Given the description of an element on the screen output the (x, y) to click on. 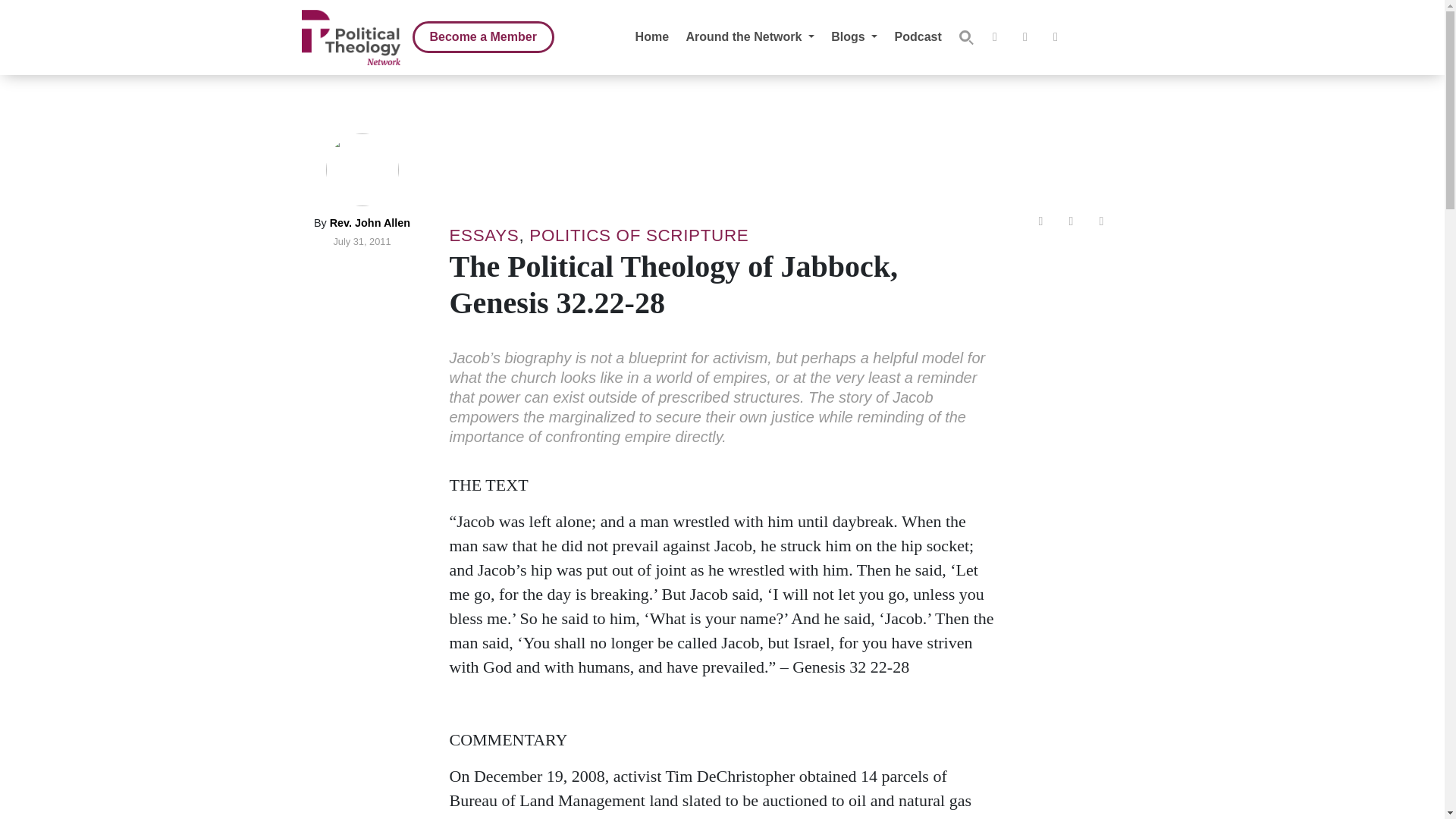
Around the Network (749, 36)
Blogs (853, 36)
Podcast (917, 36)
Home (651, 36)
Rev. John Allen (370, 223)
Become a Member (483, 37)
Podcast (917, 36)
Around the Network (749, 36)
Home (651, 36)
Blogs (853, 36)
